Given the description of an element on the screen output the (x, y) to click on. 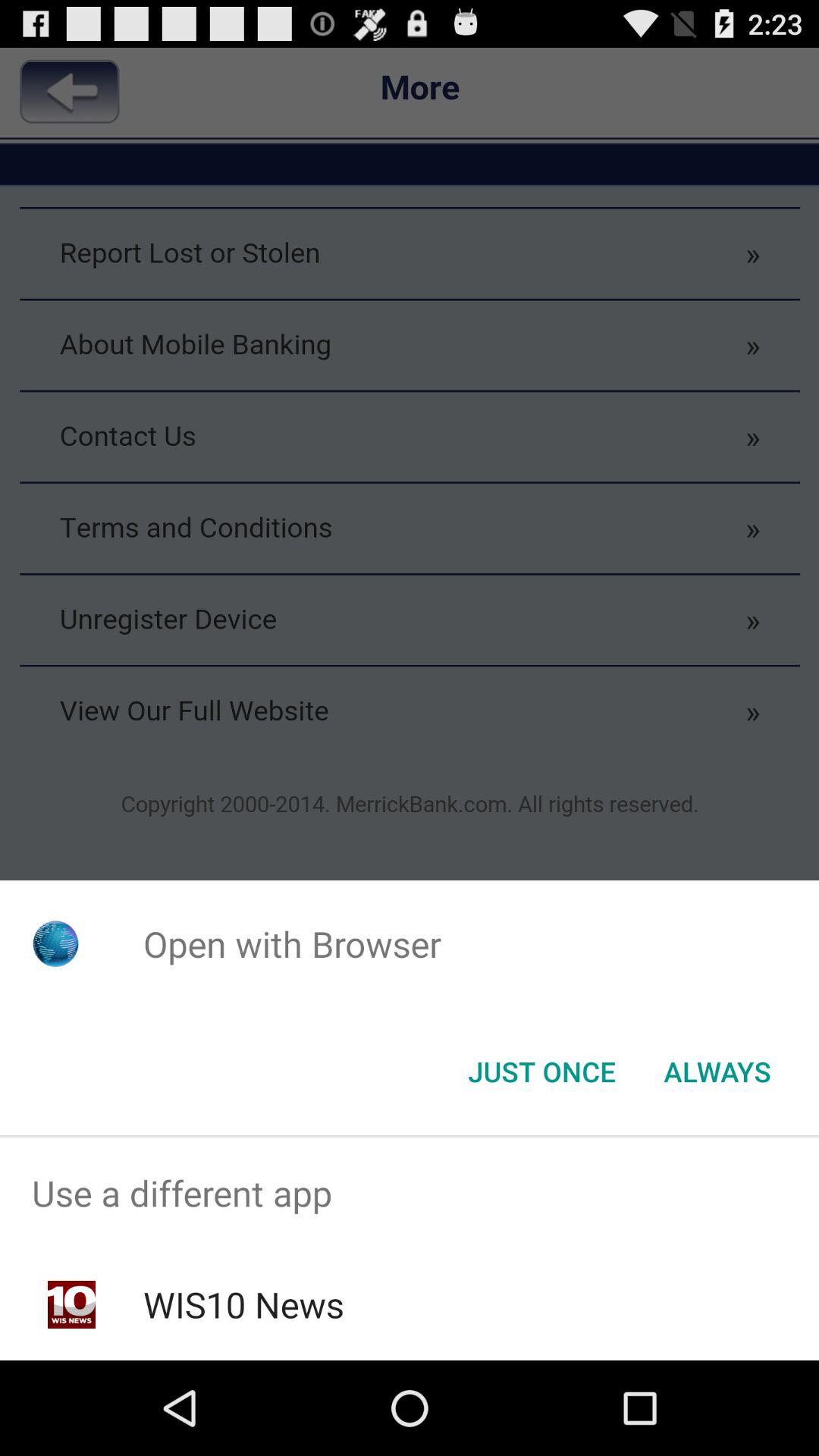
tap the app below open with browser icon (541, 1071)
